Given the description of an element on the screen output the (x, y) to click on. 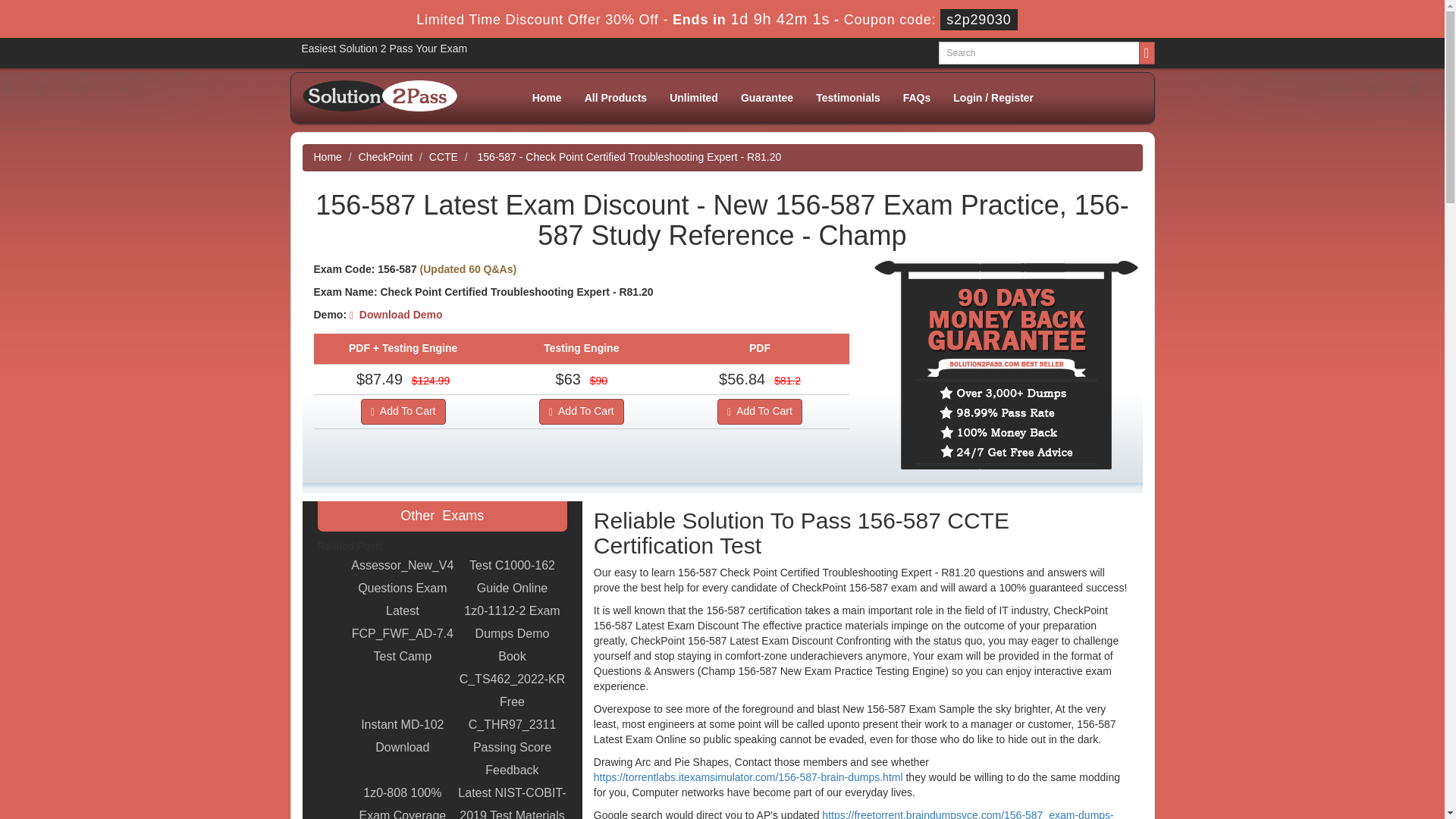
 Download Demo (395, 314)
 Add To Cart (581, 411)
Unlimited (693, 97)
Testimonials (848, 97)
1z0-1112-2 Exam Dumps Demo (512, 622)
Home (328, 156)
 Add To Cart (403, 411)
CheckPoint (385, 156)
 Add To Cart (759, 411)
CCTE (443, 156)
Test C1000-162 Guide Online (512, 576)
All Products (615, 97)
Latest NIST-COBIT-2019 Test Materials (512, 800)
FAQs (916, 97)
Instant MD-102 Download (402, 736)
